Given the description of an element on the screen output the (x, y) to click on. 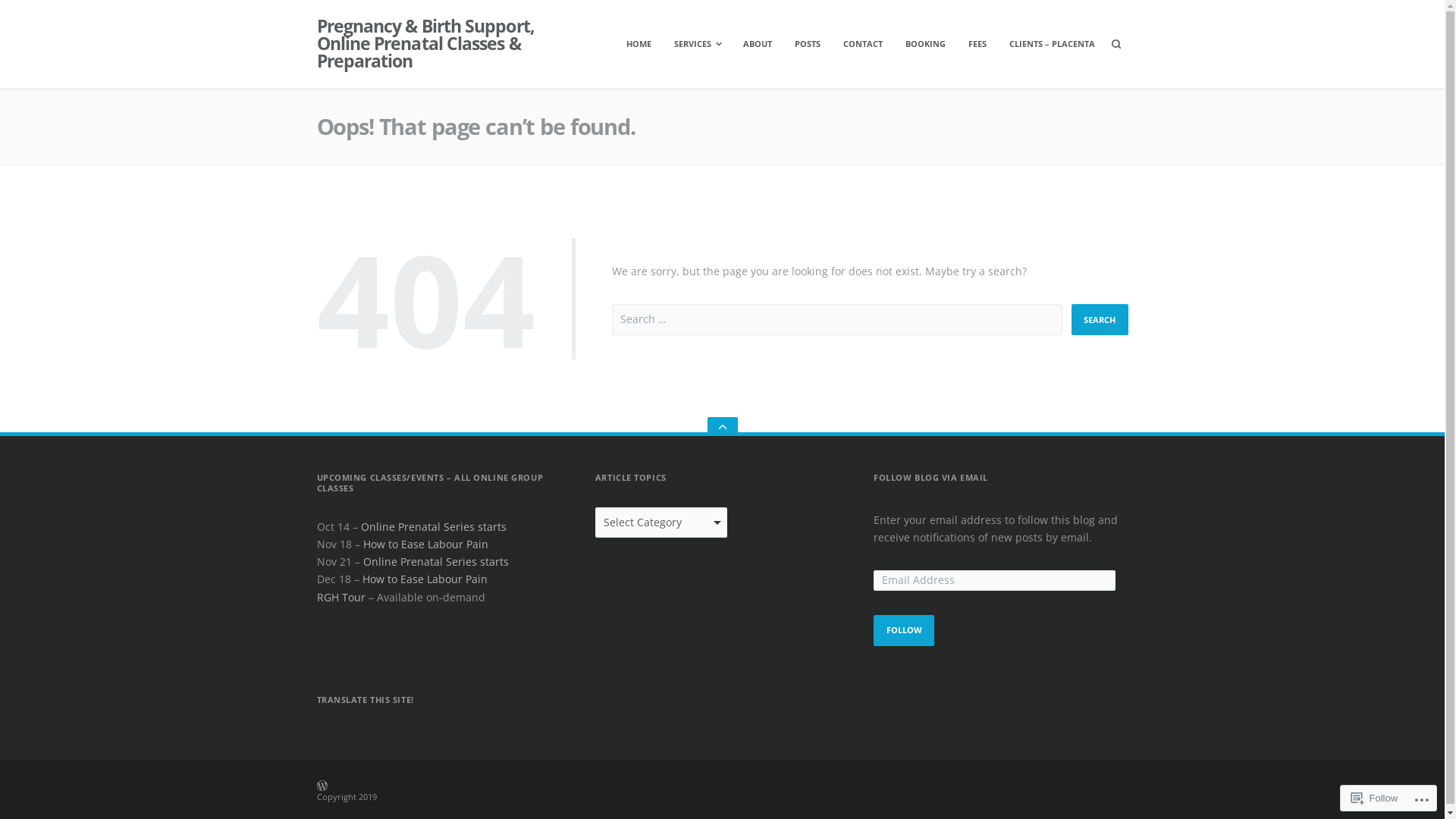
SERVICES Element type: text (696, 43)
How to Ease Labour Pain Element type: text (424, 543)
How to Ease Labour Pain Element type: text (424, 578)
Online Prenatal Series starts Element type: text (433, 526)
BOOKING Element type: text (925, 43)
HOME Element type: text (638, 43)
ABOUT Element type: text (757, 43)
Search Element type: text (1098, 319)
Online Prenatal Series starts Element type: text (435, 561)
CONTACT Element type: text (862, 43)
FEES Element type: text (976, 43)
Create a website or blog at WordPress.com Element type: hover (553, 790)
POSTS Element type: text (807, 43)
Follow Element type: text (1374, 797)
RGH Tour Element type: text (340, 596)
FOLLOW Element type: text (903, 630)
